Given the description of an element on the screen output the (x, y) to click on. 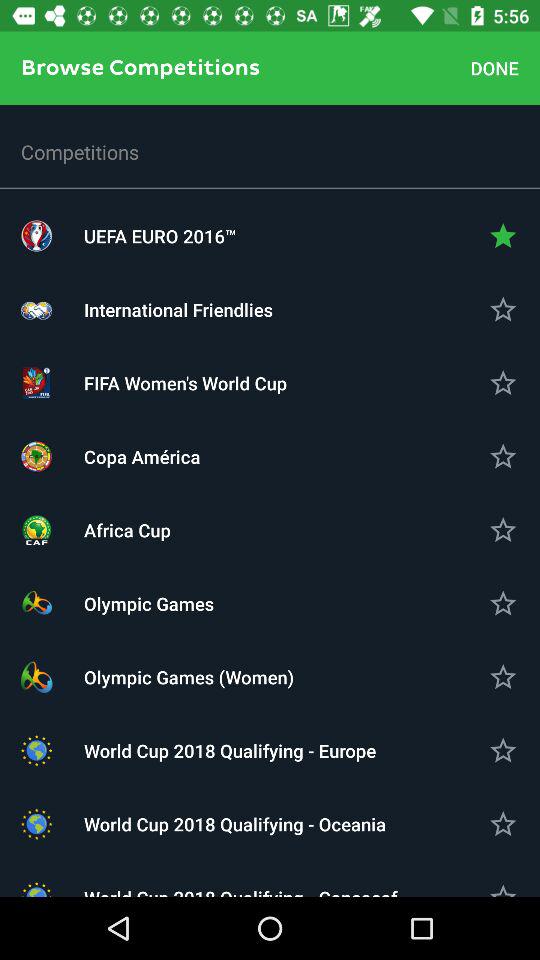
jump until africa cup item (270, 529)
